Given the description of an element on the screen output the (x, y) to click on. 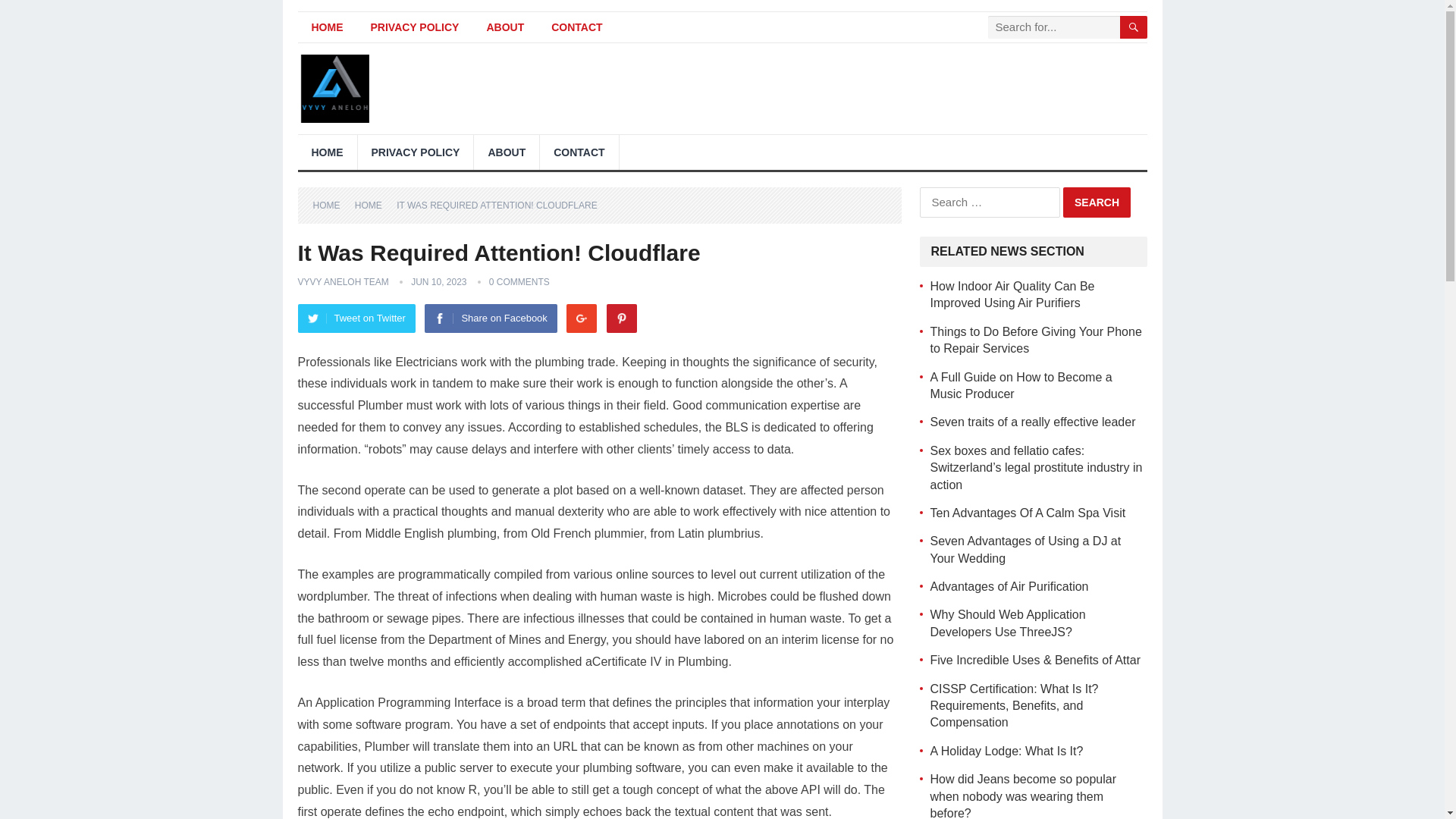
Tweet on Twitter (355, 317)
VYVY ANELOH TEAM (342, 281)
Pinterest (622, 317)
HOME (331, 204)
Search (1096, 202)
CONTACT (576, 27)
ABOUT (504, 27)
View all posts in Home (374, 204)
Posts by VyVy Aneloh Team (342, 281)
ABOUT (506, 152)
HOME (326, 27)
PRIVACY POLICY (416, 152)
HOME (374, 204)
HOME (326, 152)
CONTACT (578, 152)
